Given the description of an element on the screen output the (x, y) to click on. 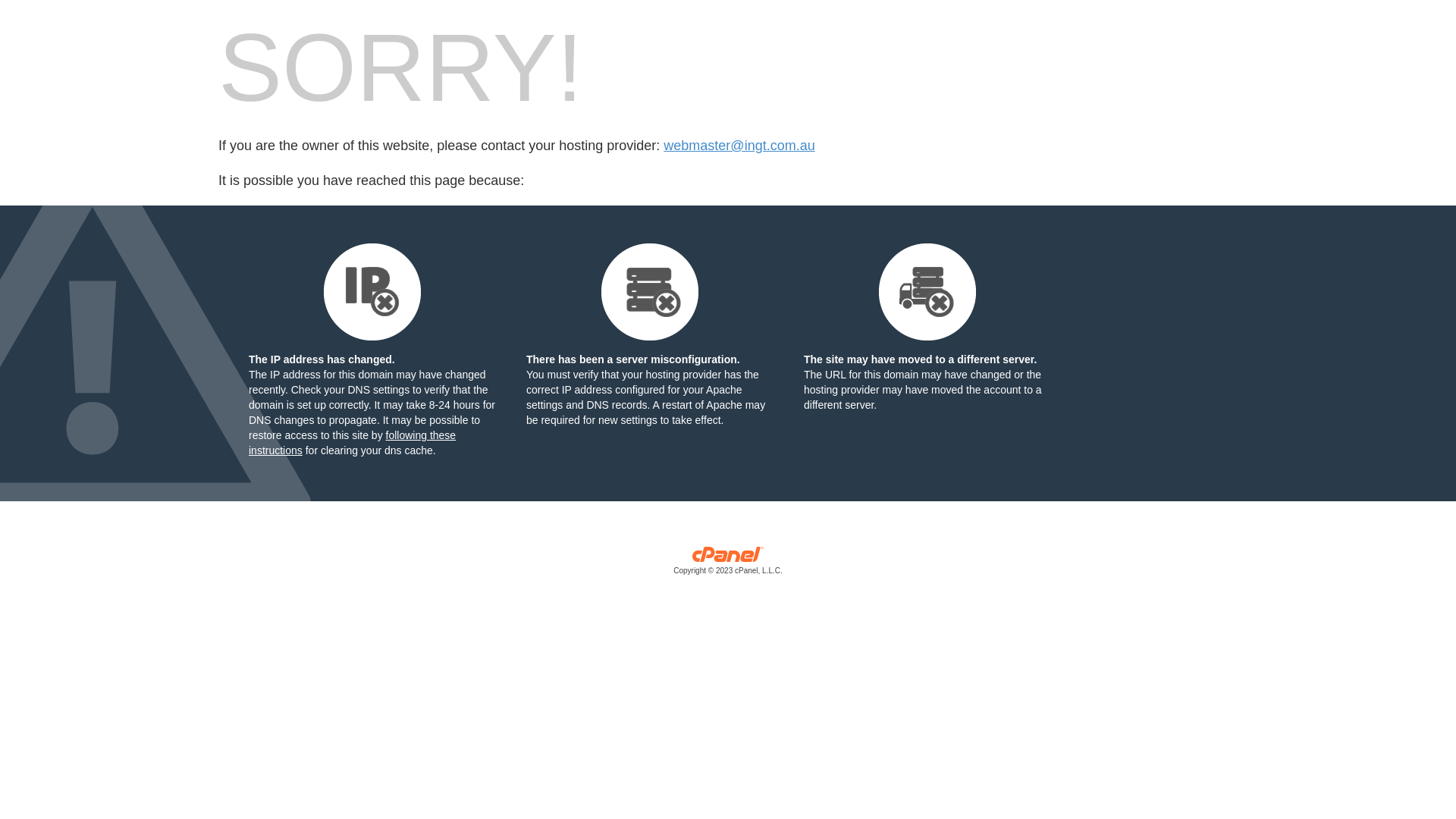
following these instructions Element type: text (351, 442)
webmaster@ingt.com.au Element type: text (738, 145)
